Given the description of an element on the screen output the (x, y) to click on. 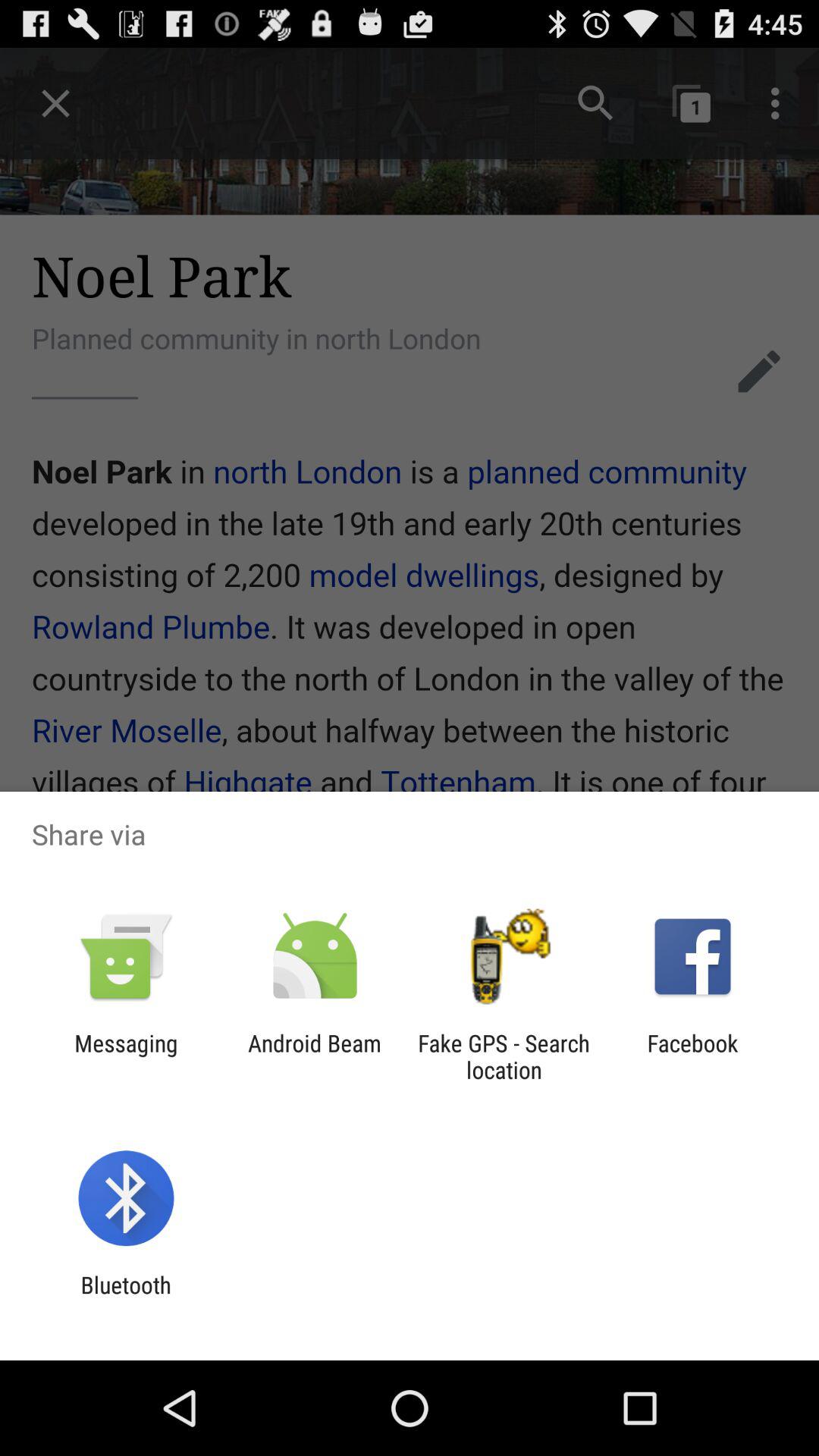
press icon next to fake gps search icon (314, 1056)
